Given the description of an element on the screen output the (x, y) to click on. 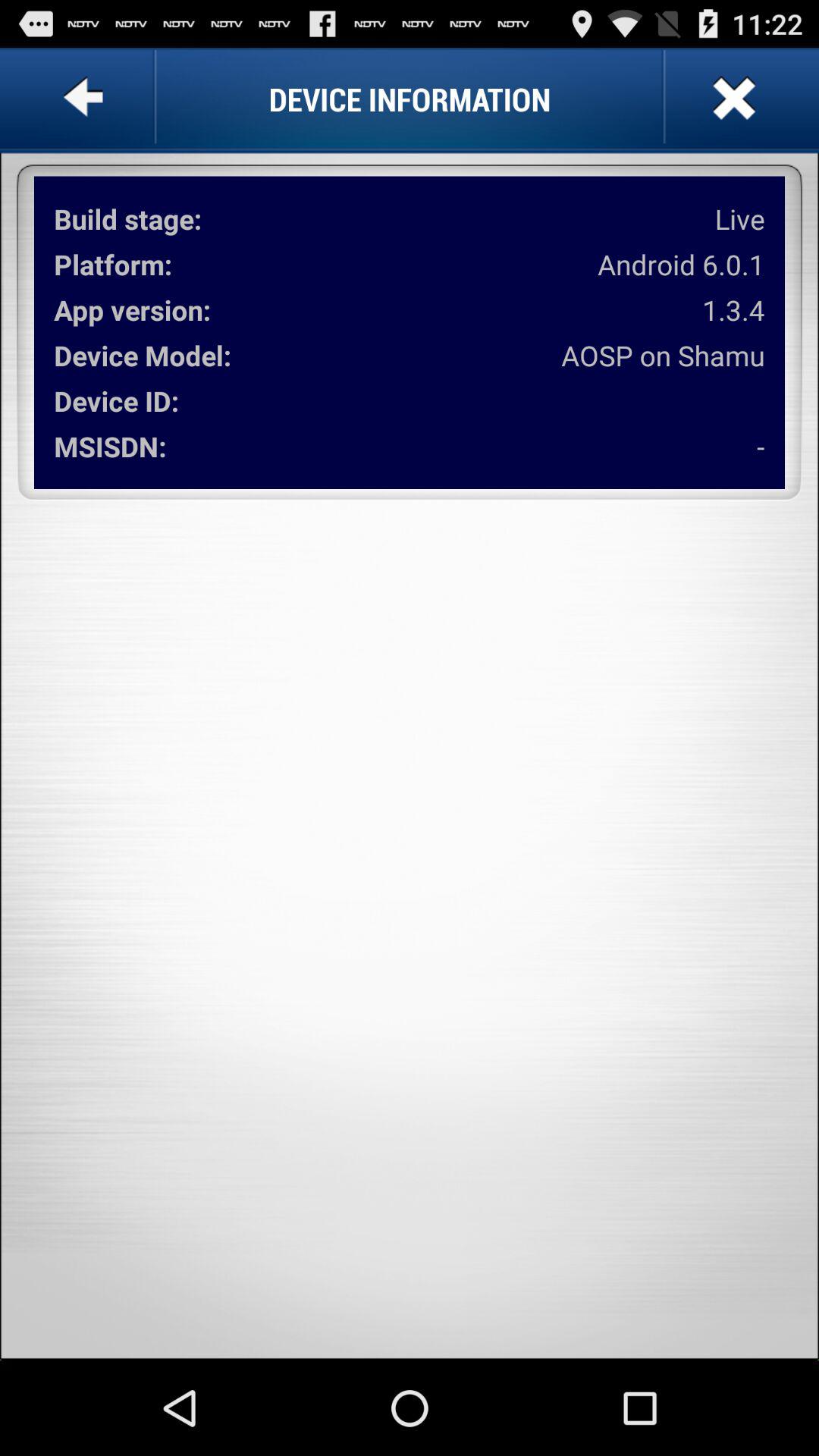
close page (732, 99)
